Given the description of an element on the screen output the (x, y) to click on. 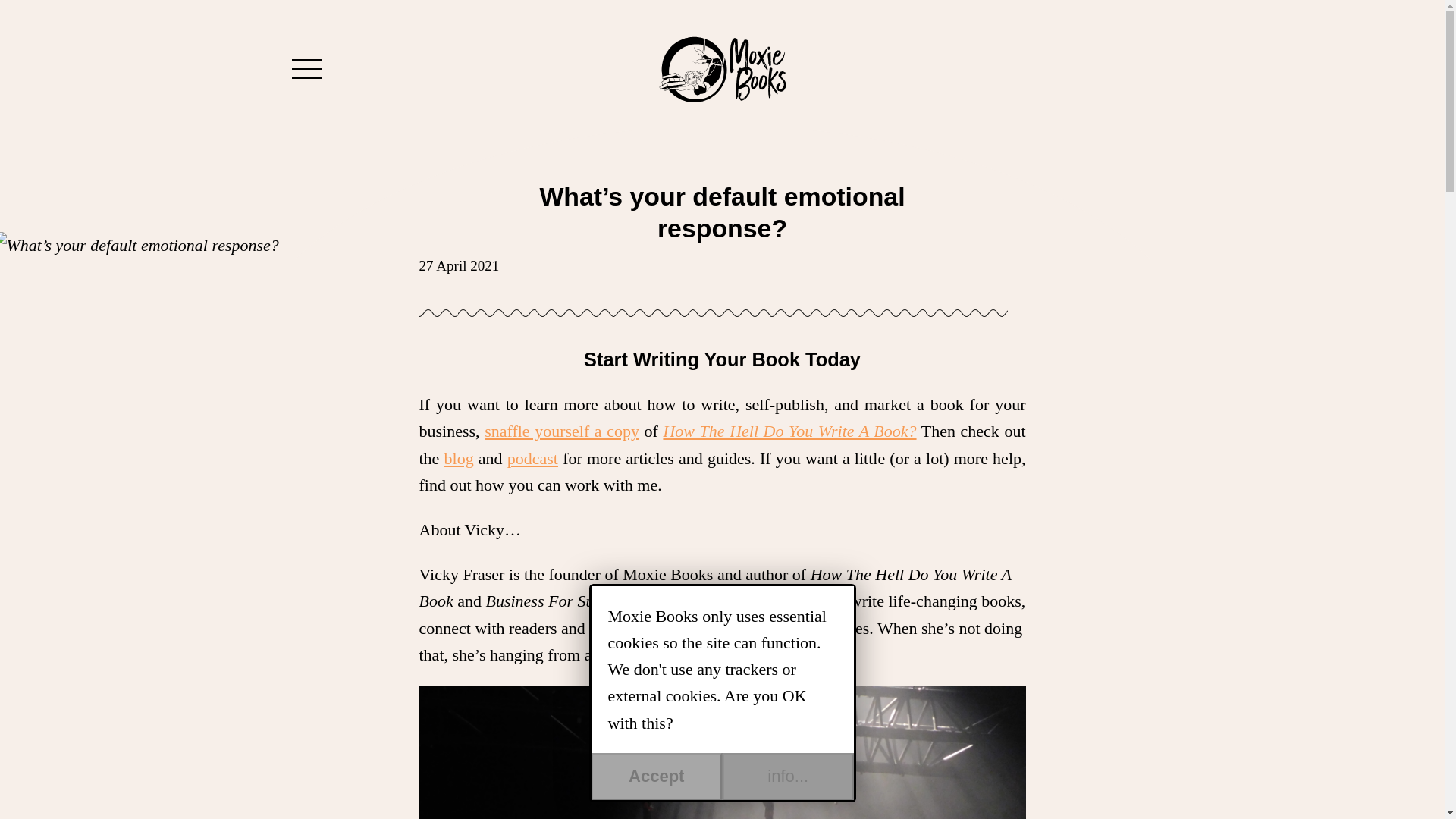
snaffle yourself a copy (561, 430)
Trapeze 1 (722, 752)
podcast (531, 457)
How The Hell Do You Write A Book? (788, 430)
blog (459, 457)
